Given the description of an element on the screen output the (x, y) to click on. 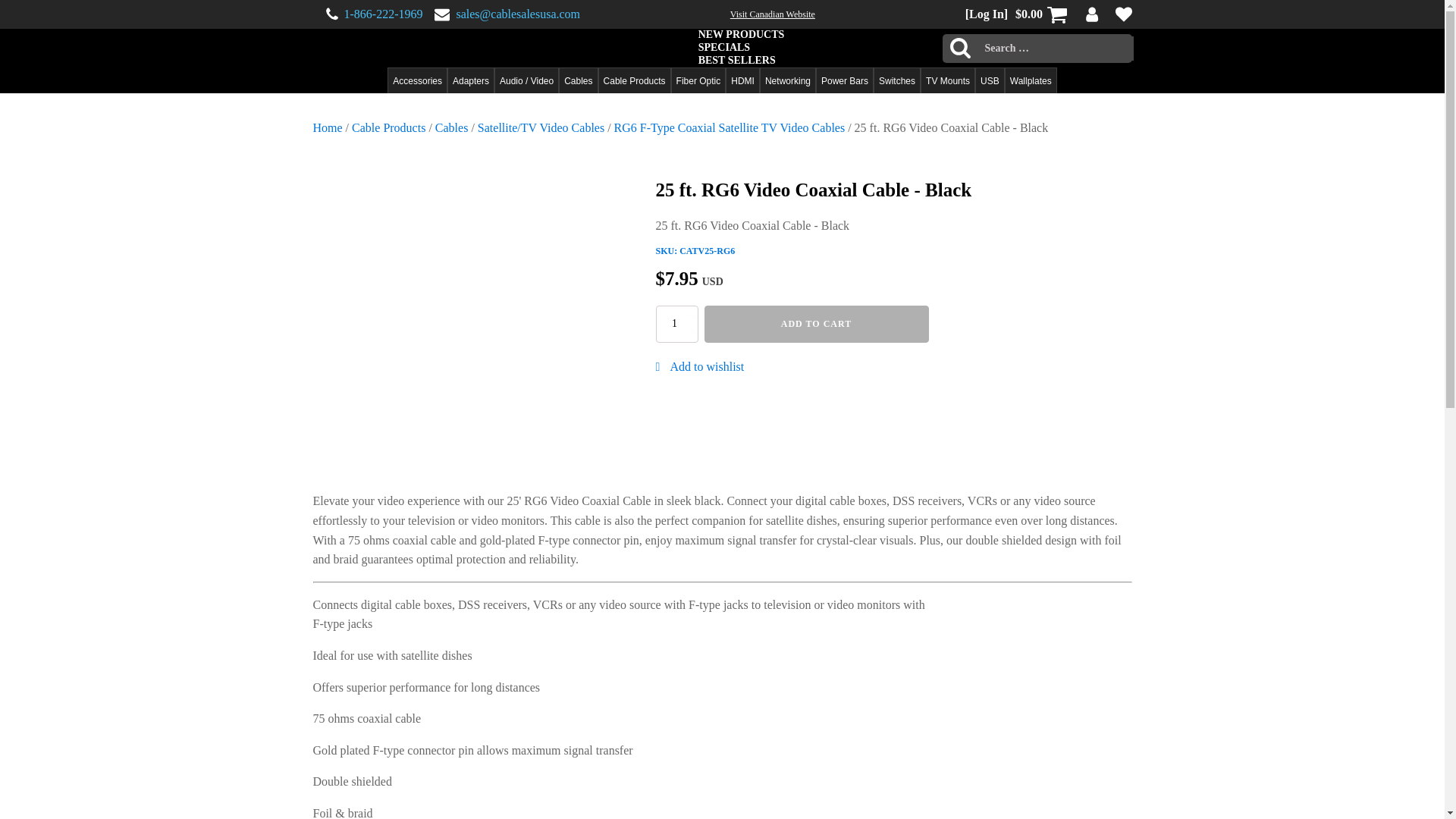
1 (676, 323)
My account (1091, 14)
Visit Canadian Website (772, 14)
1-866-222-1969 (383, 14)
